Given the description of an element on the screen output the (x, y) to click on. 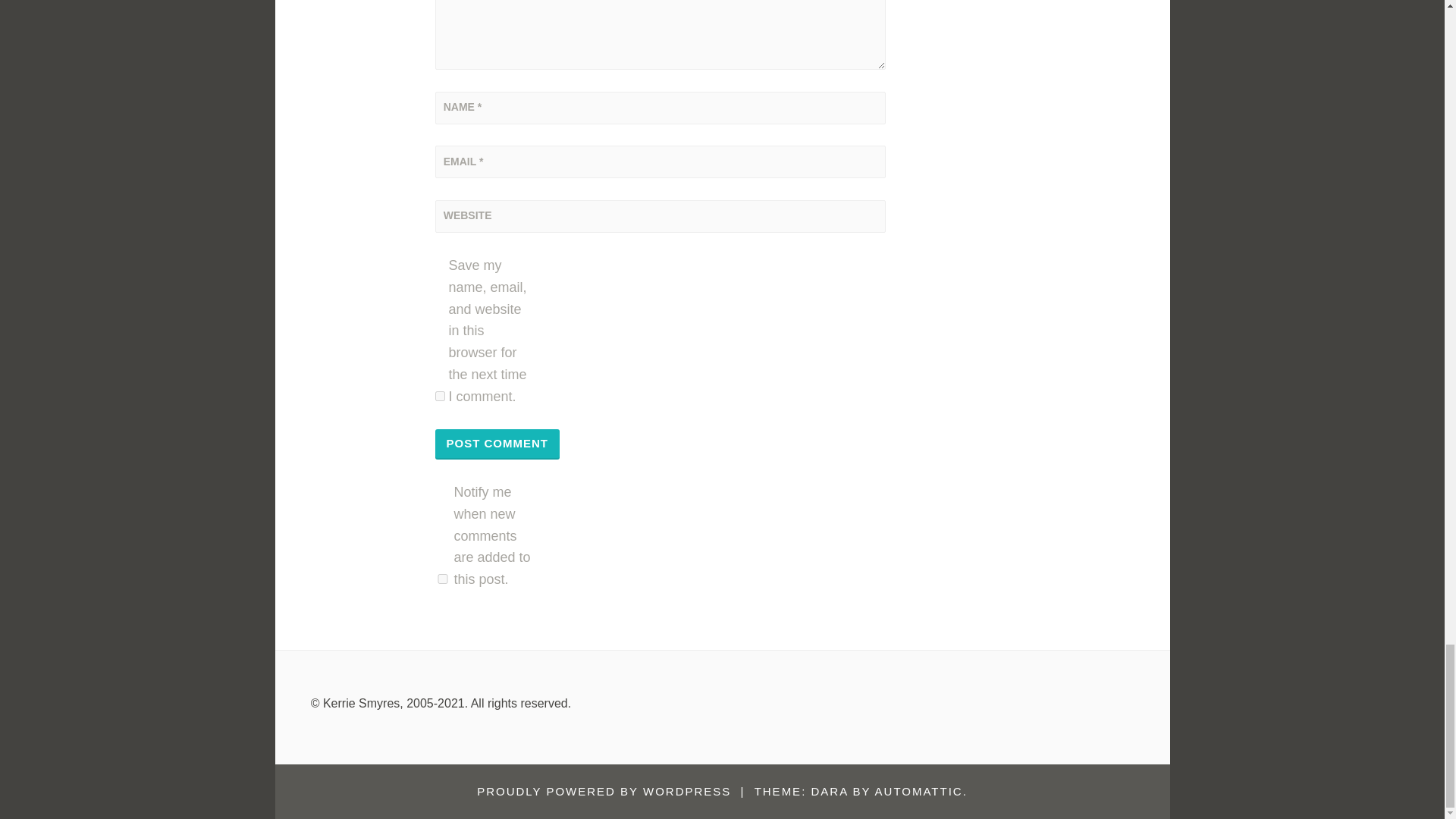
yes (440, 396)
1 (442, 578)
Post Comment (497, 444)
Post Comment (497, 444)
